Given the description of an element on the screen output the (x, y) to click on. 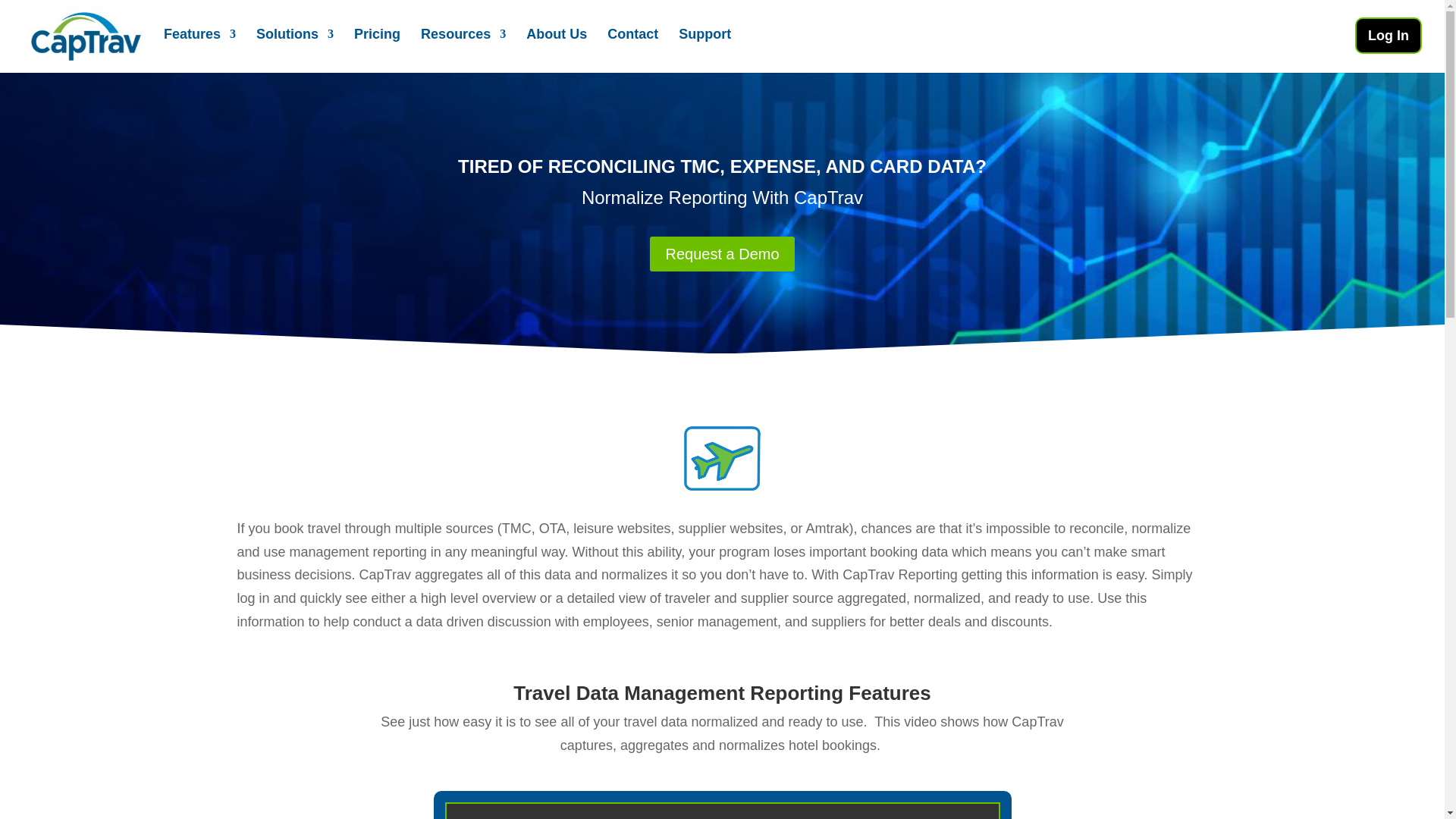
Resources (462, 47)
Pricing (376, 47)
Features (199, 47)
Support (704, 47)
Contact (632, 47)
About Us (555, 47)
Solutions (294, 47)
Log In (1388, 35)
